Given the description of an element on the screen output the (x, y) to click on. 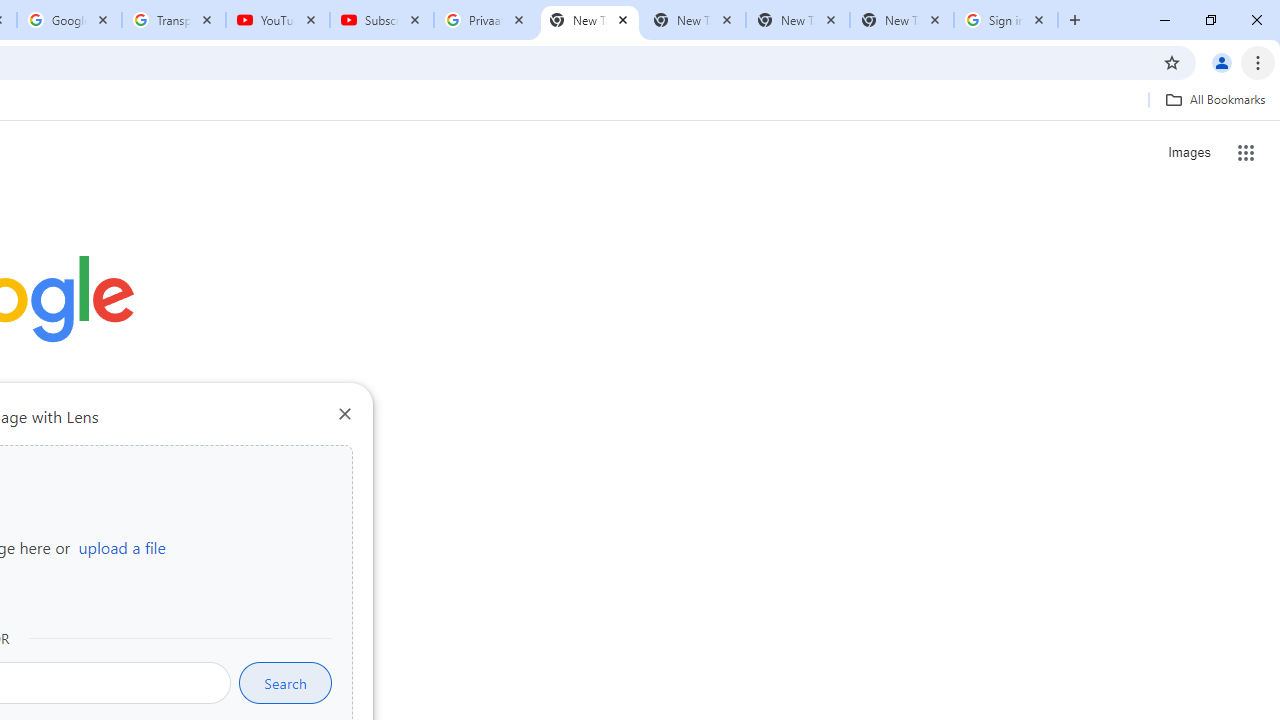
upload a file (122, 547)
New Tab (901, 20)
YouTube (278, 20)
Sign in - Google Accounts (1005, 20)
Subscriptions - YouTube (381, 20)
Google Account (68, 20)
